Given the description of an element on the screen output the (x, y) to click on. 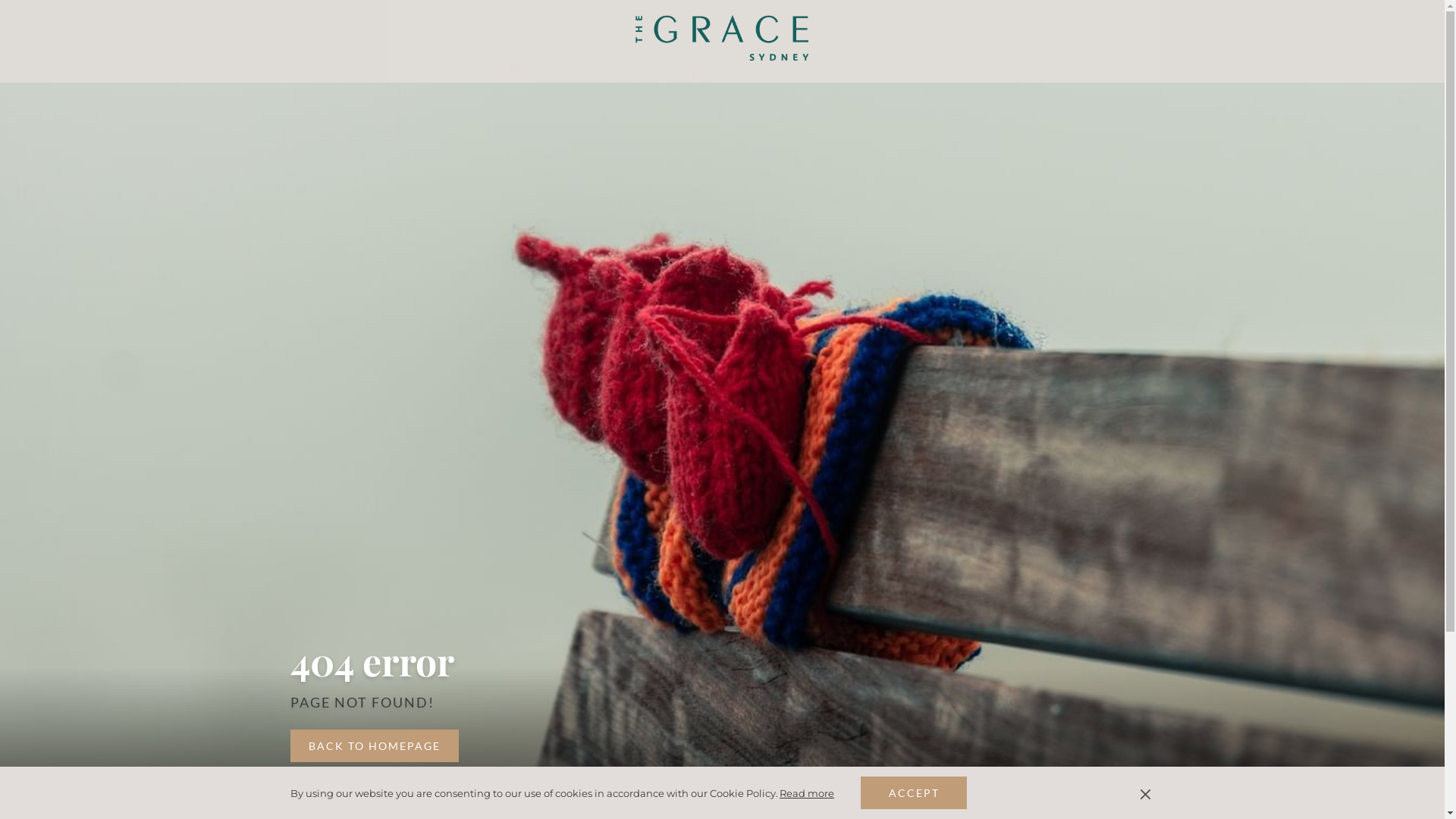
ACCEPT Element type: text (913, 792)
BACK TO HOMEPAGE Element type: text (373, 745)
Back to the homepage Element type: hover (722, 37)
Read more Element type: text (807, 792)
